Given the description of an element on the screen output the (x, y) to click on. 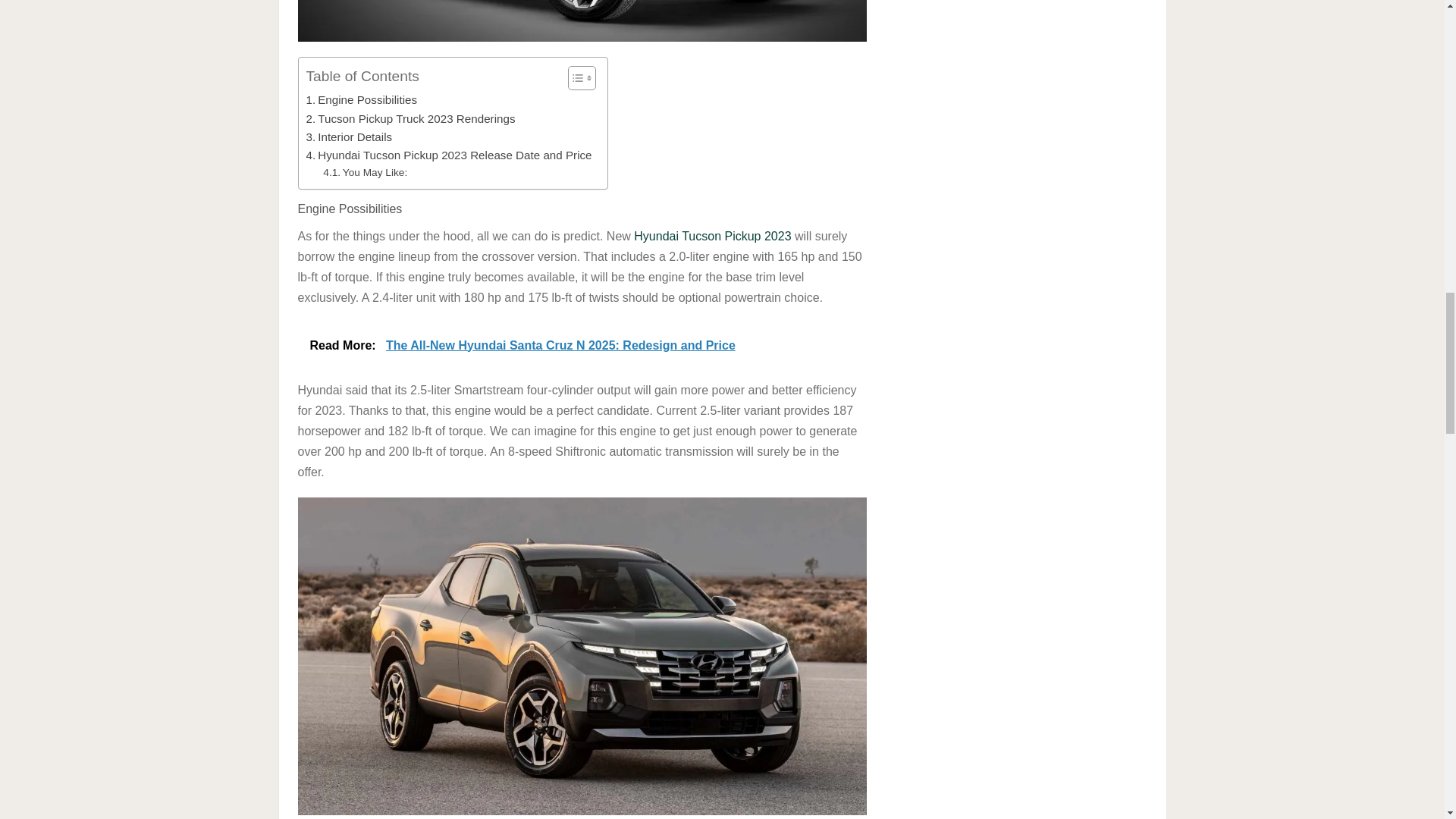
You May Like: (365, 172)
Hyundai Tucson Pickup 2023 Release Date and Price (448, 155)
Tucson Pickup Truck 2023 Renderings (410, 117)
Interior Details (349, 136)
Engine Possibilities (361, 99)
